Given the description of an element on the screen output the (x, y) to click on. 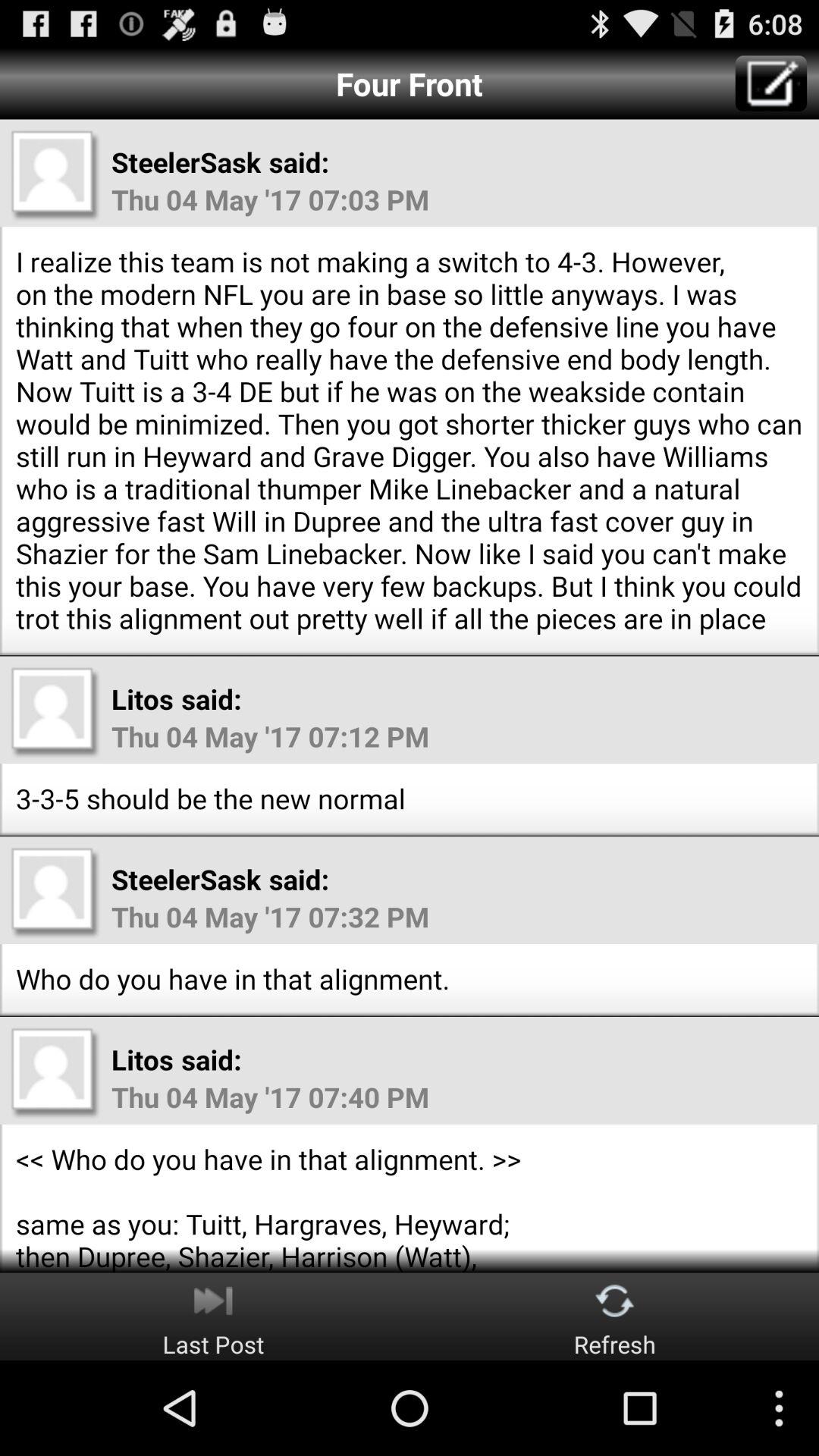
select user profile (55, 892)
